Given the description of an element on the screen output the (x, y) to click on. 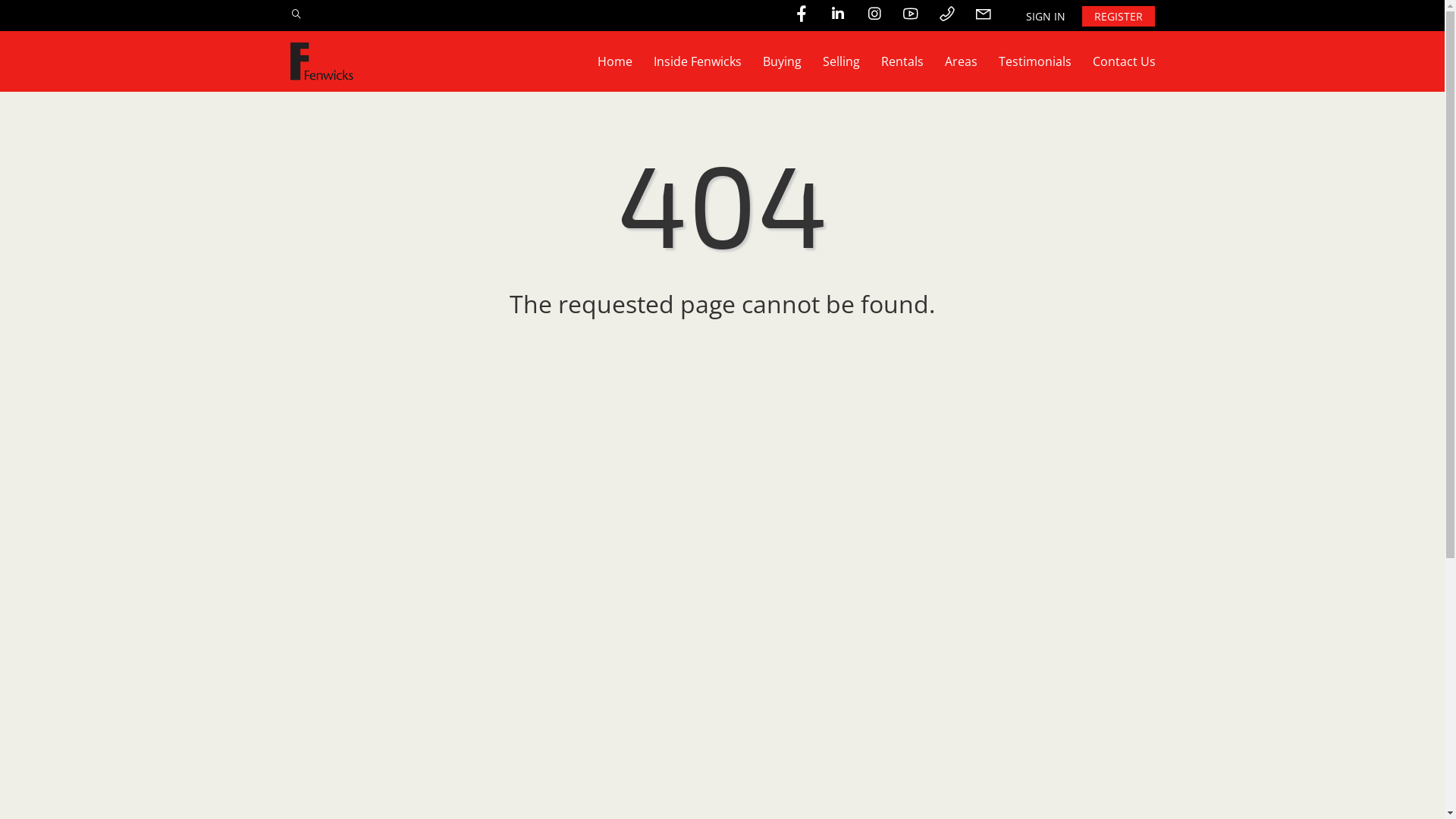
REGISTER Element type: text (1117, 16)
Testimonials Element type: text (1034, 61)
SIGN IN Element type: text (1044, 16)
Buying Element type: text (782, 61)
Inside Fenwicks Element type: text (697, 61)
Rentals Element type: text (902, 61)
Selling Element type: text (840, 61)
Areas Element type: text (961, 61)
Home Element type: text (614, 61)
Contact Us Element type: text (1123, 61)
